Given the description of an element on the screen output the (x, y) to click on. 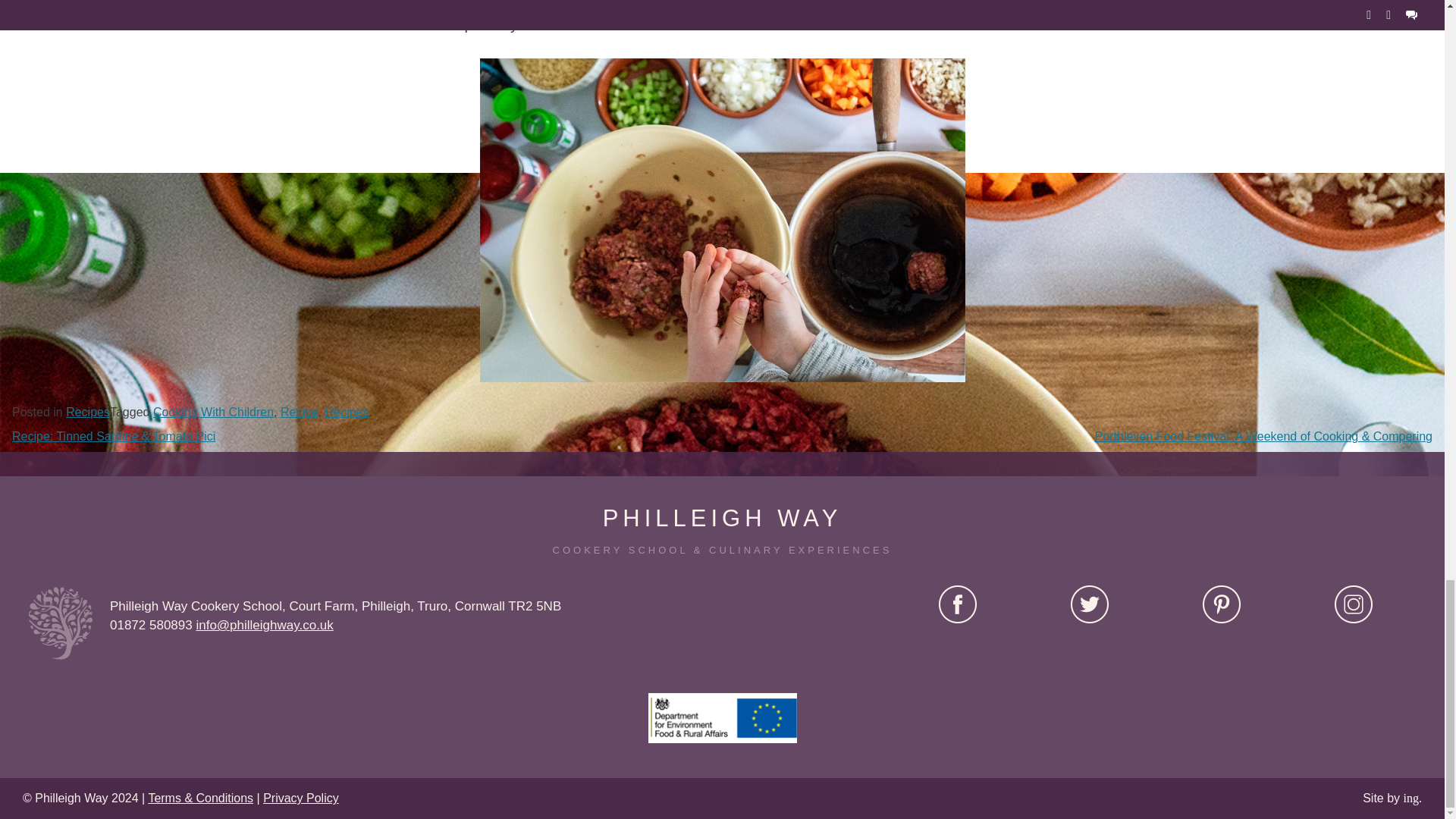
Privacy Policy (301, 797)
Recipe (299, 411)
Facebook (957, 604)
Twitter (1089, 604)
ing. (1412, 797)
Part-funded by DEFRA (721, 717)
Recipes (346, 411)
Pinterest (1221, 604)
Recipes (87, 411)
Cooking With Children (212, 411)
Instagram (1354, 604)
